Given the description of an element on the screen output the (x, y) to click on. 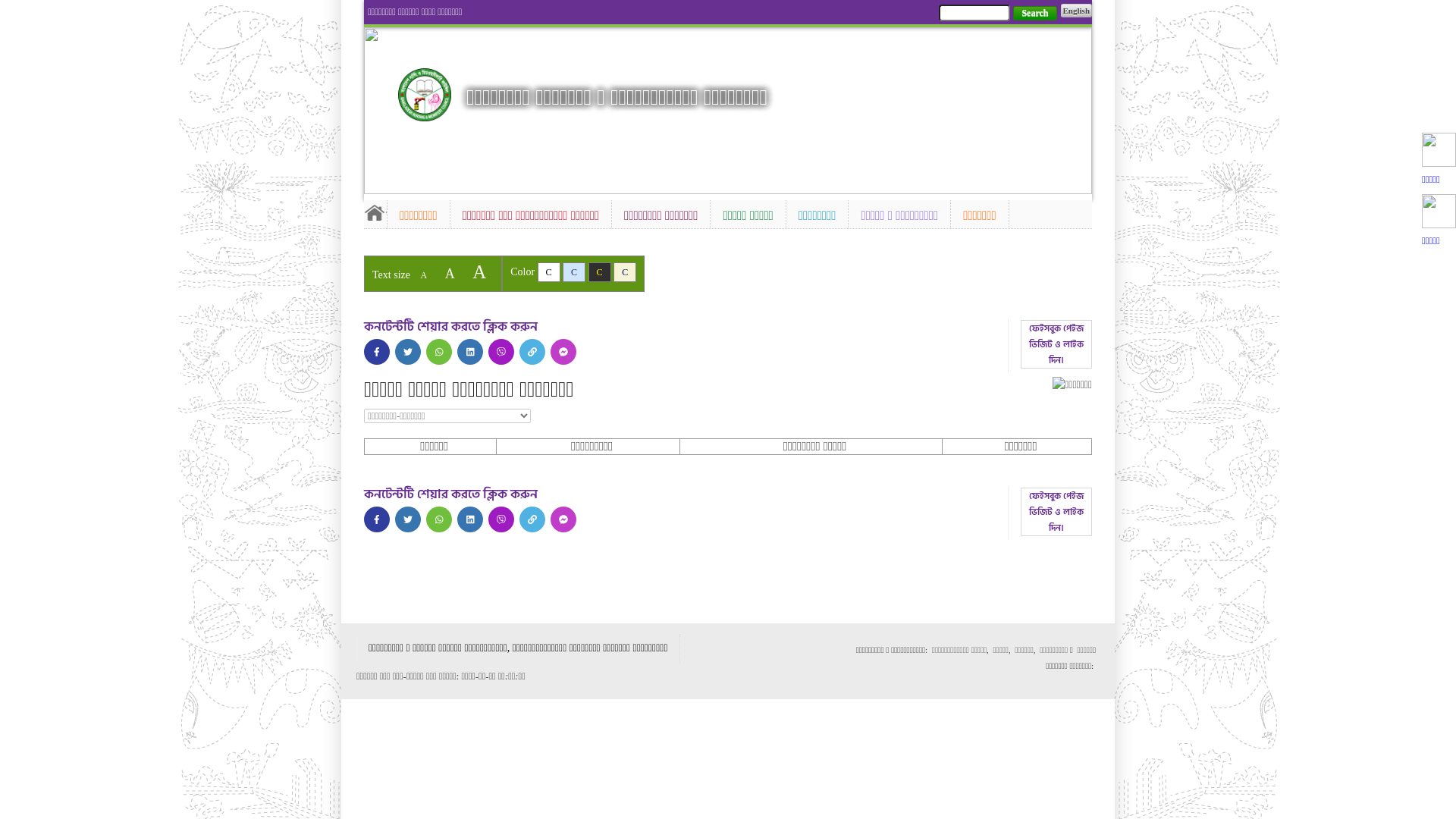
C Element type: text (599, 272)
A Element type: text (423, 275)
C Element type: text (624, 272)
C Element type: text (573, 272)
A Element type: text (478, 271)
C Element type: text (548, 272)
Search Element type: text (1034, 13)
English Element type: text (1076, 10)
Home Element type: hover (424, 94)
A Element type: text (449, 273)
Home Element type: hover (375, 211)
